Given the description of an element on the screen output the (x, y) to click on. 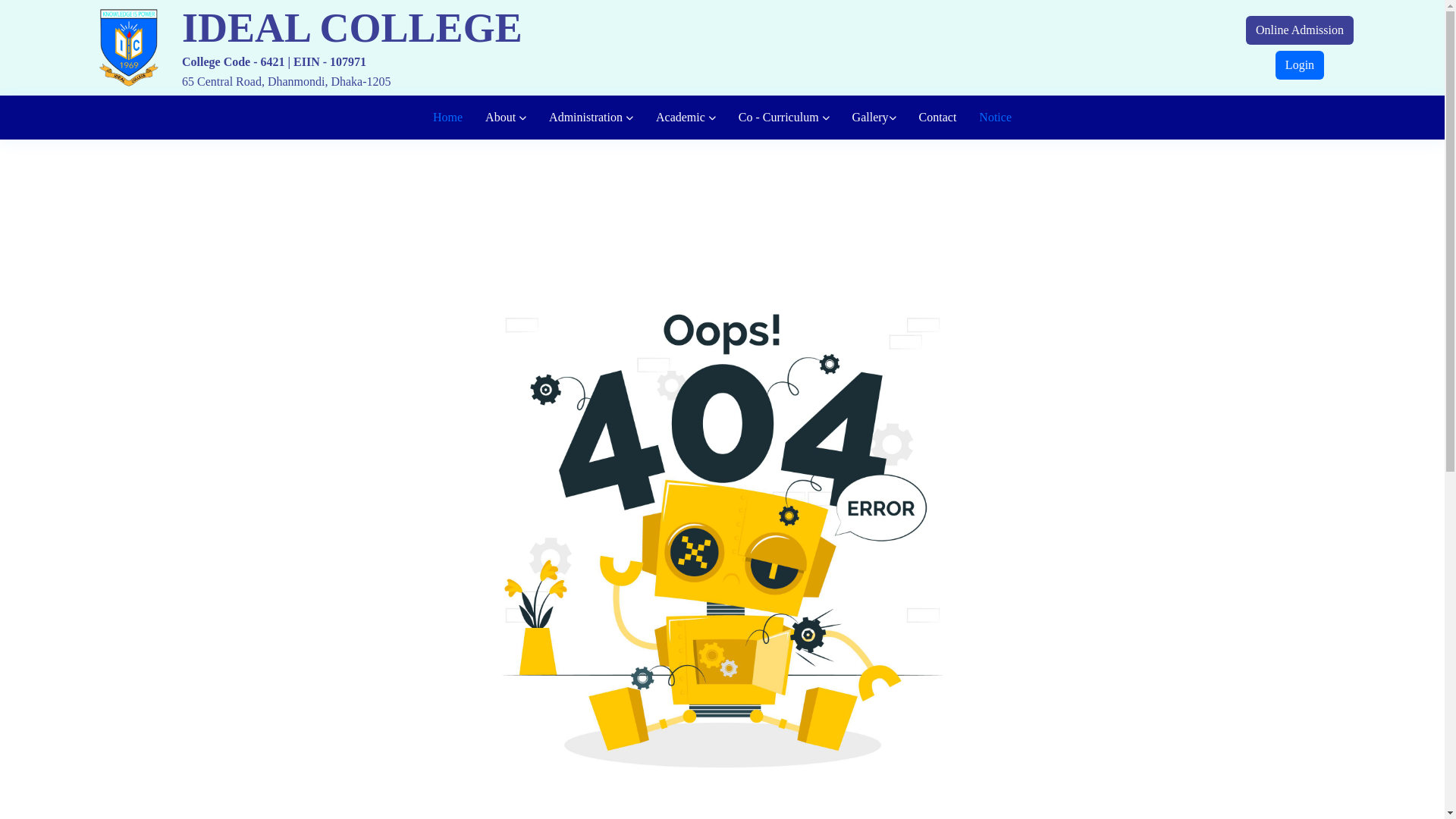
Notice Element type: text (995, 117)
Co - Curriculum Element type: text (783, 117)
About Element type: text (505, 117)
Administration Element type: text (591, 117)
Gallery Element type: text (874, 117)
Academic Element type: text (685, 117)
Login Element type: text (1299, 64)
Login Element type: text (1299, 63)
Online Admission Element type: text (1299, 29)
Contact Element type: text (938, 117)
Home Element type: text (447, 117)
